Given the description of an element on the screen output the (x, y) to click on. 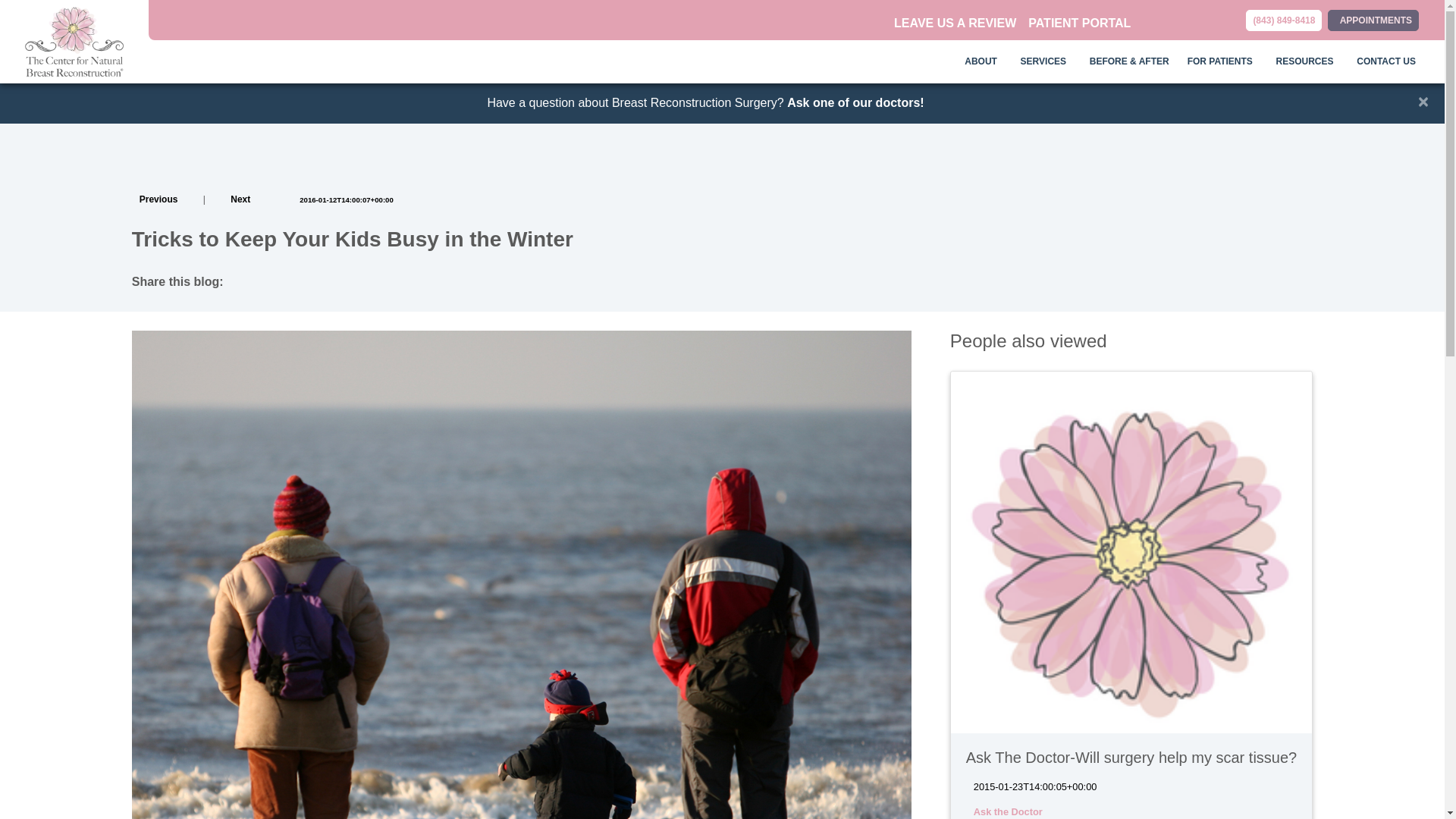
RESOURCES   (1307, 61)
PATIENT PORTAL (1079, 22)
SERVICES   (1045, 61)
ABOUT   (982, 61)
FOR PATIENTS   (1221, 61)
  APPOINTMENTS (1372, 19)
LEAVE US A REVIEW (954, 22)
